Given the description of an element on the screen output the (x, y) to click on. 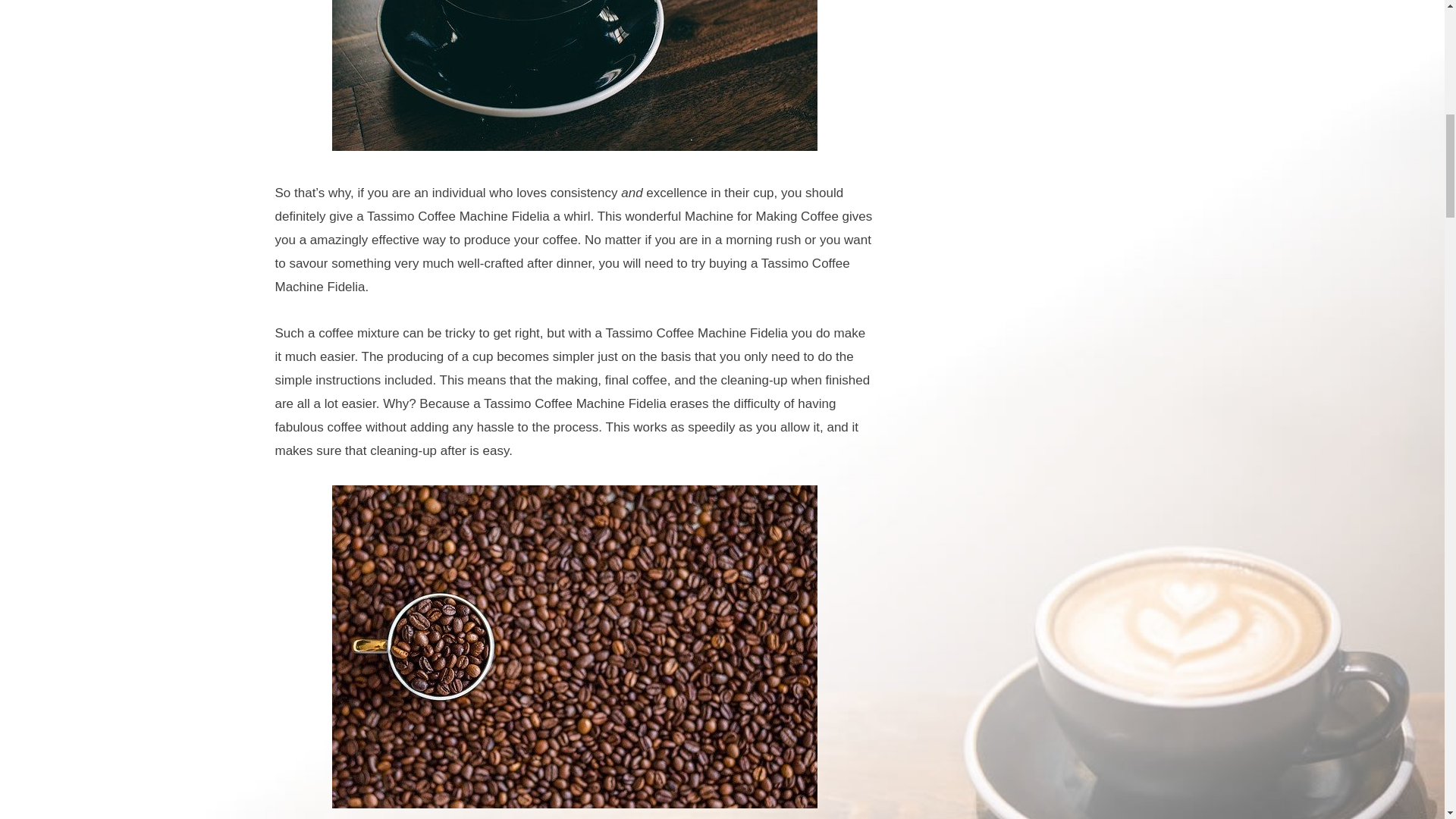
Best Semi Automatic Coffee Machine (573, 75)
